Given the description of an element on the screen output the (x, y) to click on. 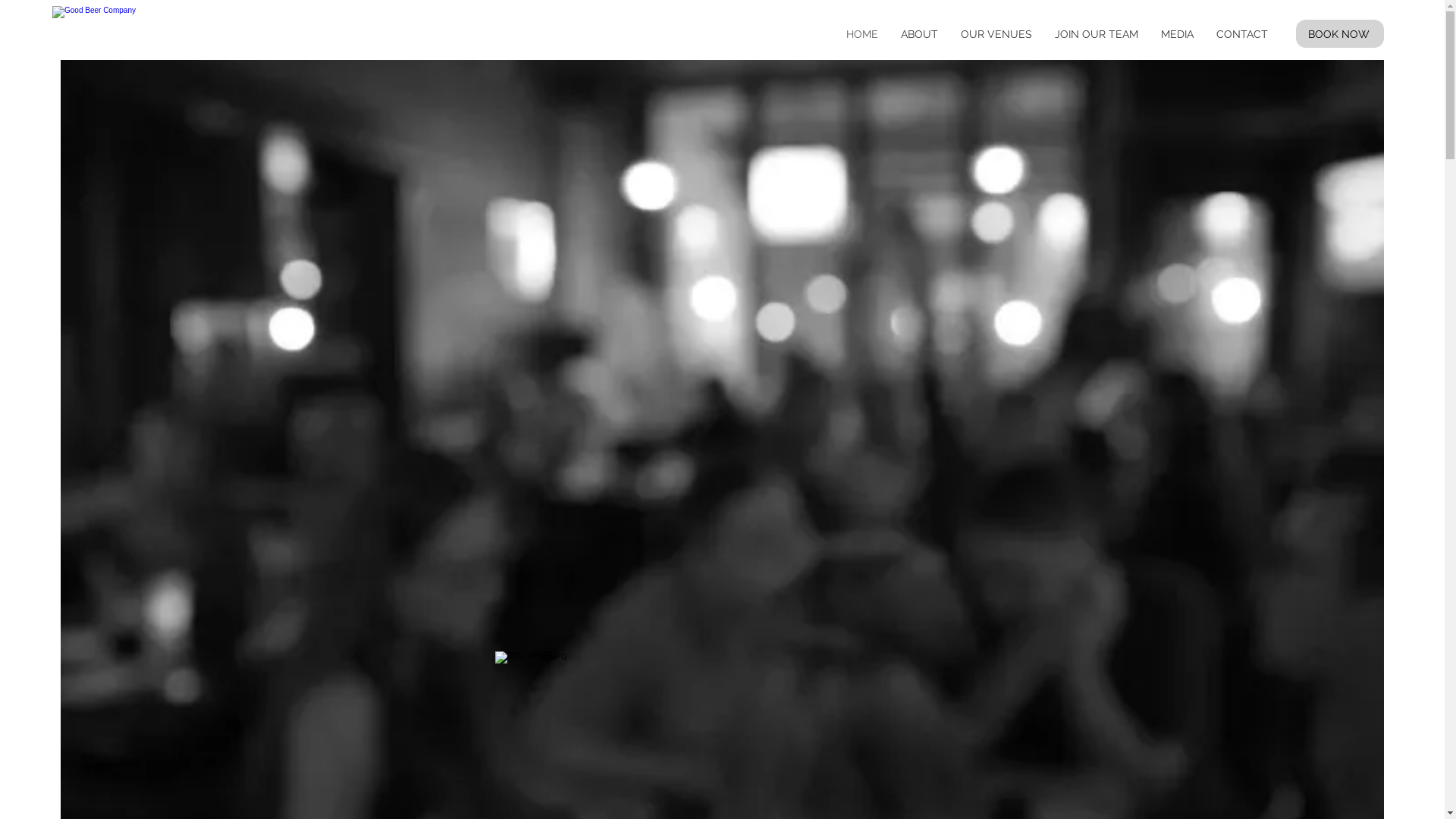
HOME Element type: text (861, 34)
OUR VENUES Element type: text (996, 34)
CONTACT Element type: text (1241, 34)
MEDIA Element type: text (1176, 34)
BOOK NOW Element type: text (1339, 33)
JOIN OUR TEAM Element type: text (1096, 34)
ABOUT Element type: text (919, 34)
